Given the description of an element on the screen output the (x, y) to click on. 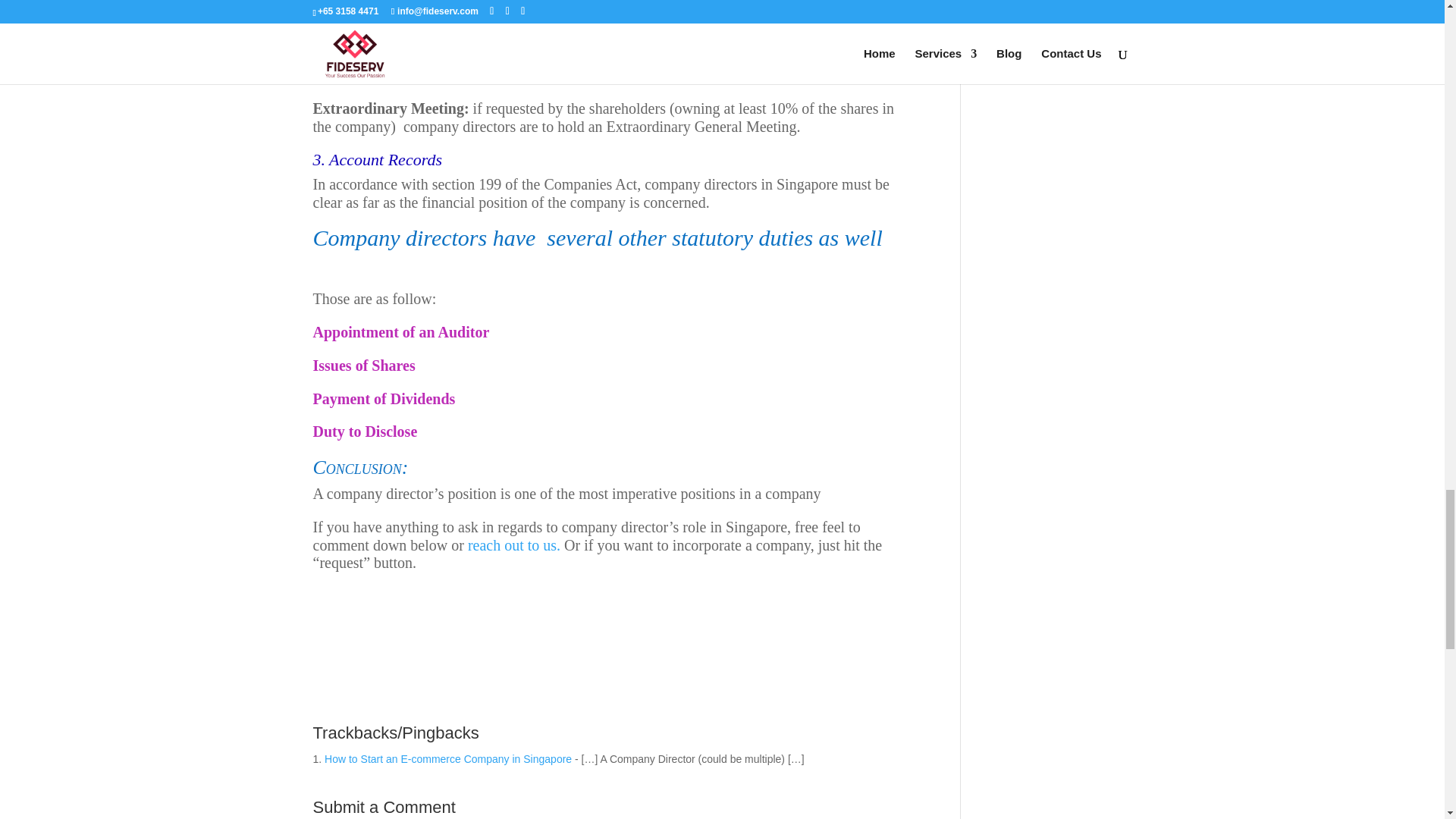
How to Start an E-commerce Company in Singapore (448, 758)
reach out to us. (513, 545)
